Given the description of an element on the screen output the (x, y) to click on. 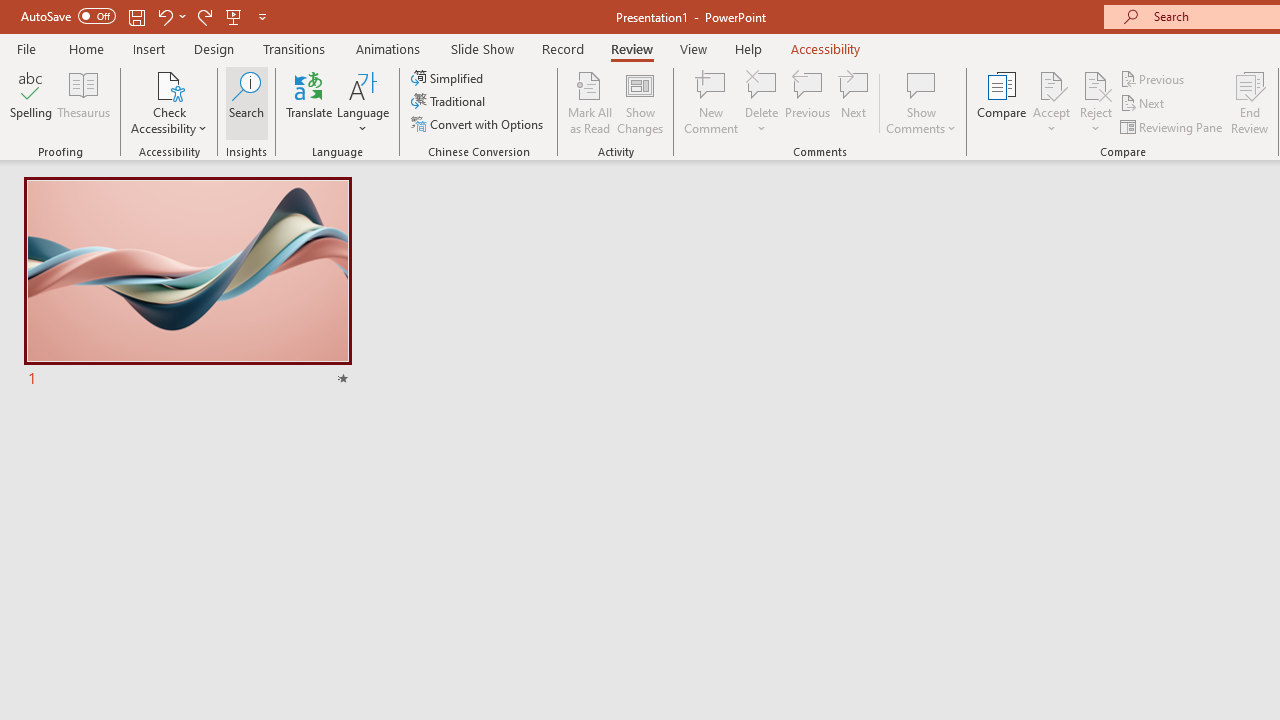
Traditional (449, 101)
Reject Change (1096, 84)
